Given the description of an element on the screen output the (x, y) to click on. 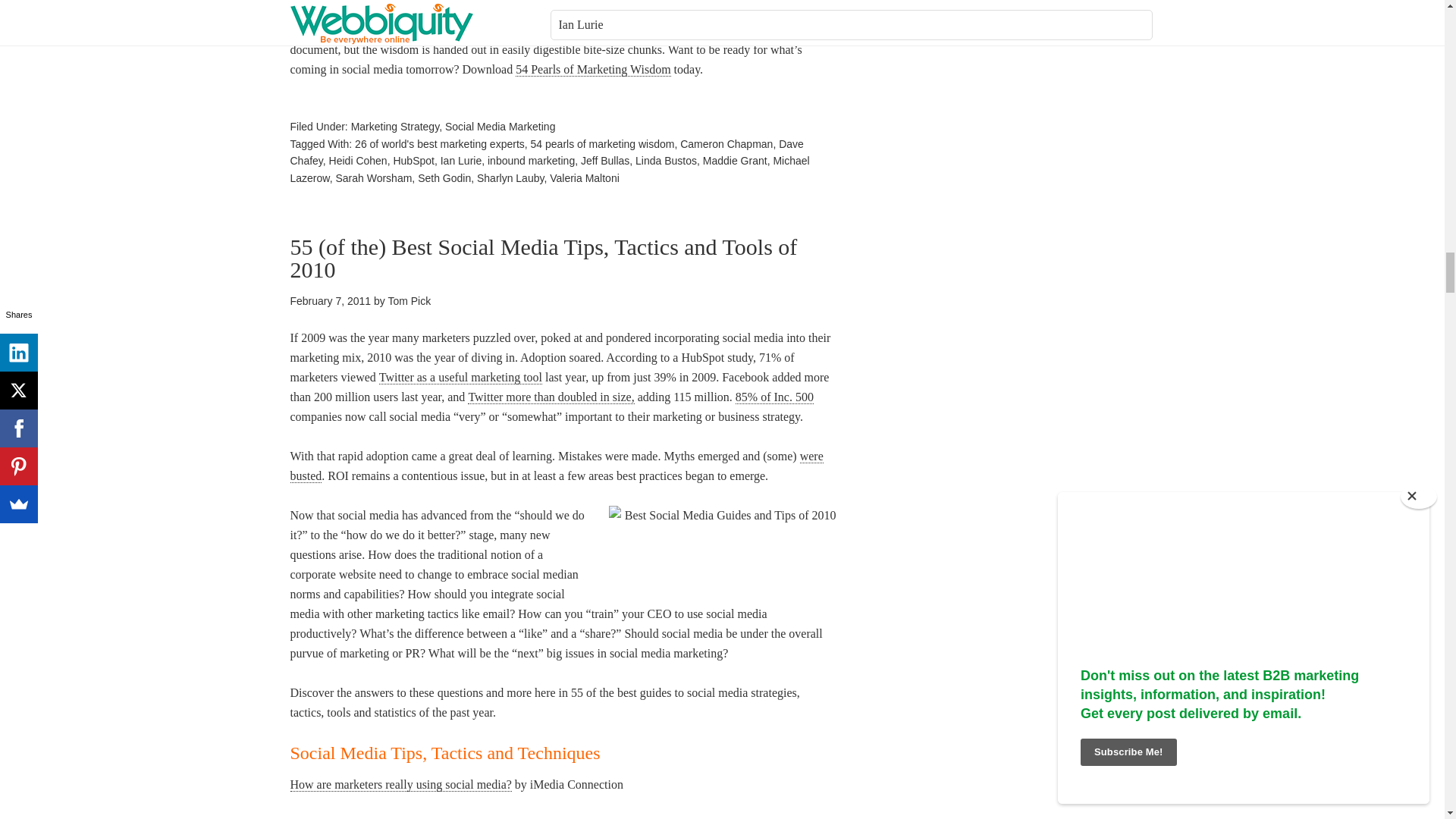
Best-of-2010-Webbiquity. (721, 542)
